Given the description of an element on the screen output the (x, y) to click on. 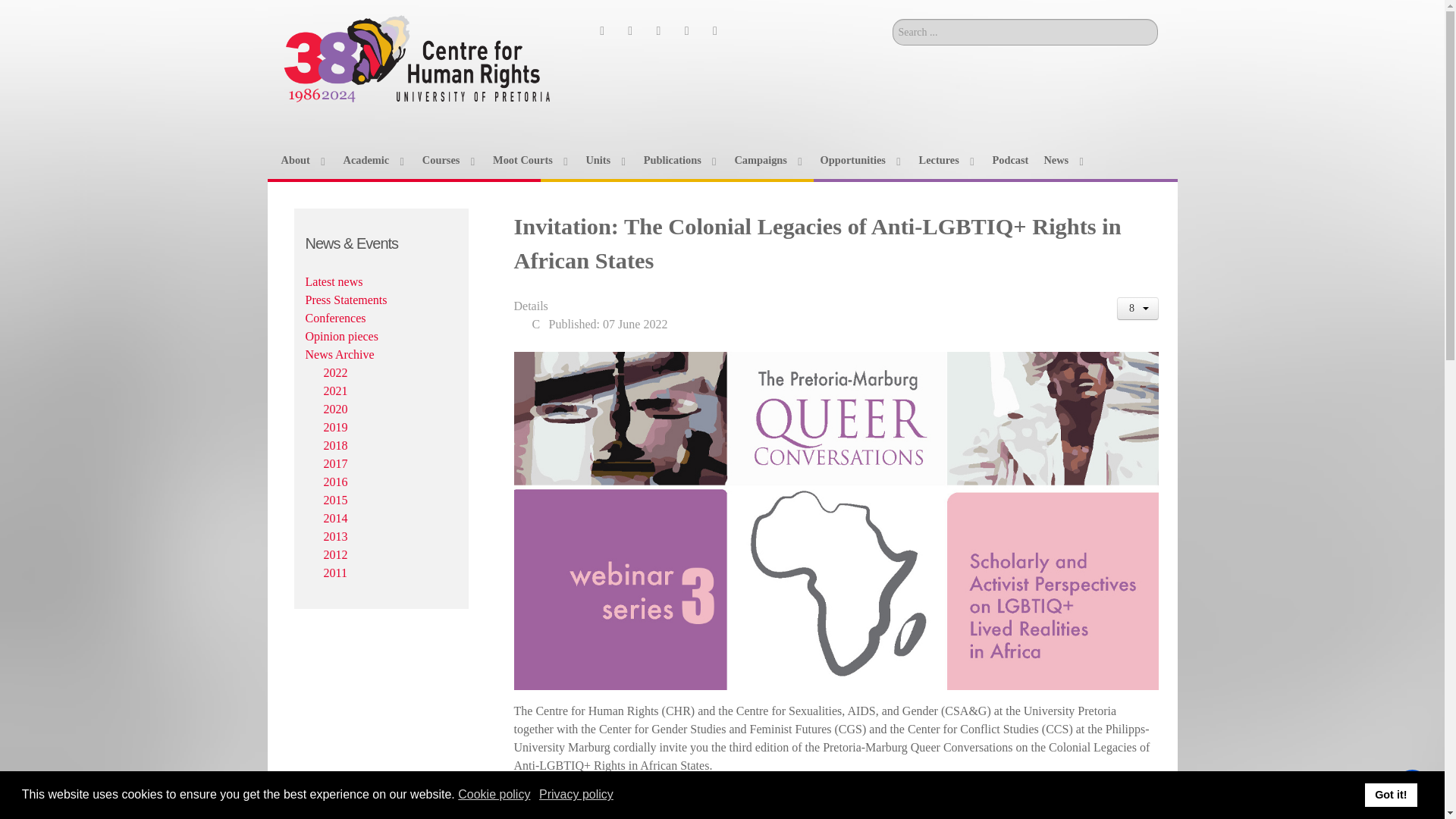
Cookie policy (495, 794)
Courses (449, 160)
About (304, 160)
Academic (374, 160)
Got it! (1390, 794)
Privacy policy (576, 794)
